Given the description of an element on the screen output the (x, y) to click on. 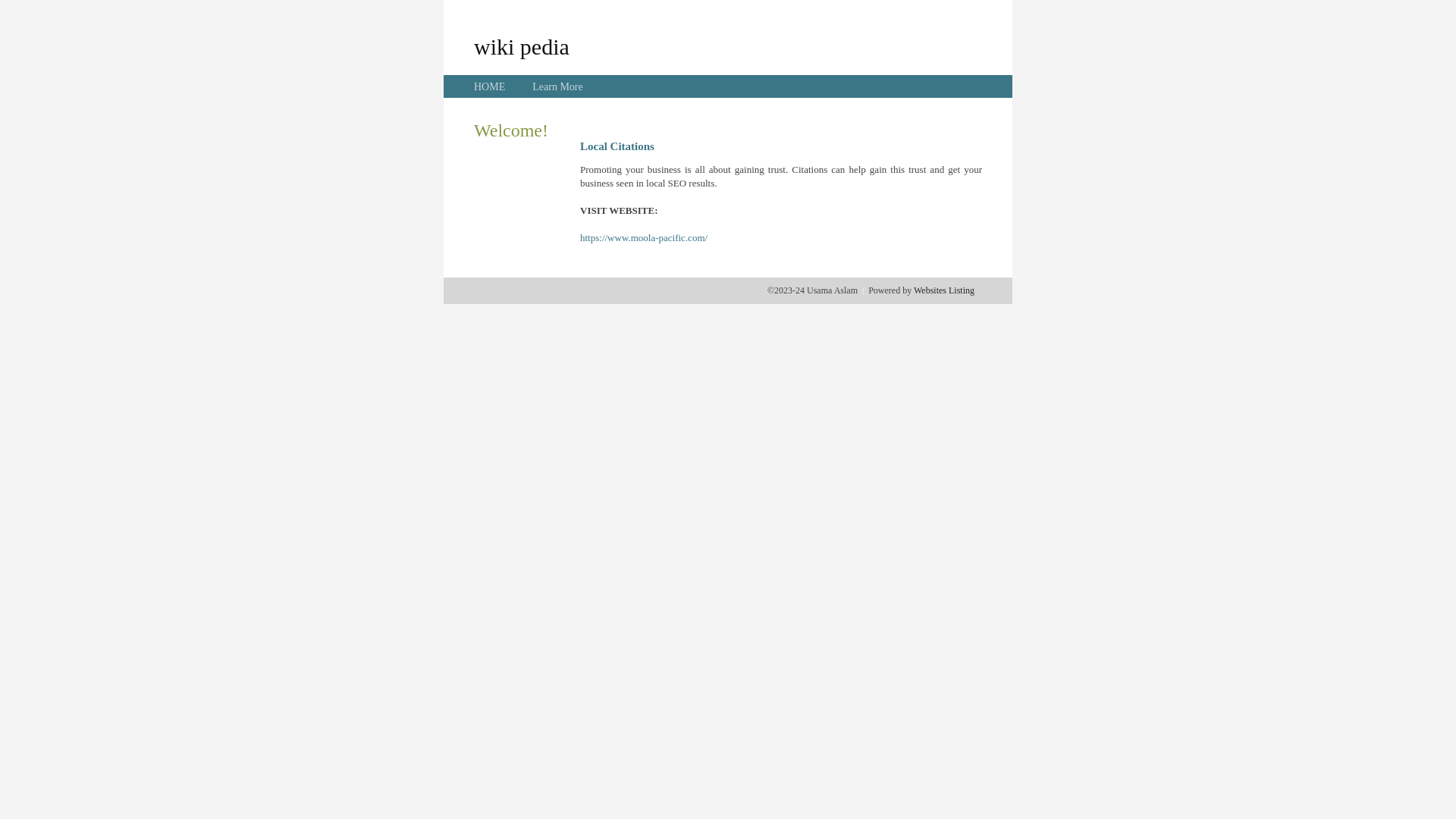
https://www.moola-pacific.com/ Element type: text (643, 237)
wiki pedia Element type: text (521, 46)
HOME Element type: text (489, 86)
Websites Listing Element type: text (943, 290)
Learn More Element type: text (557, 86)
